Given the description of an element on the screen output the (x, y) to click on. 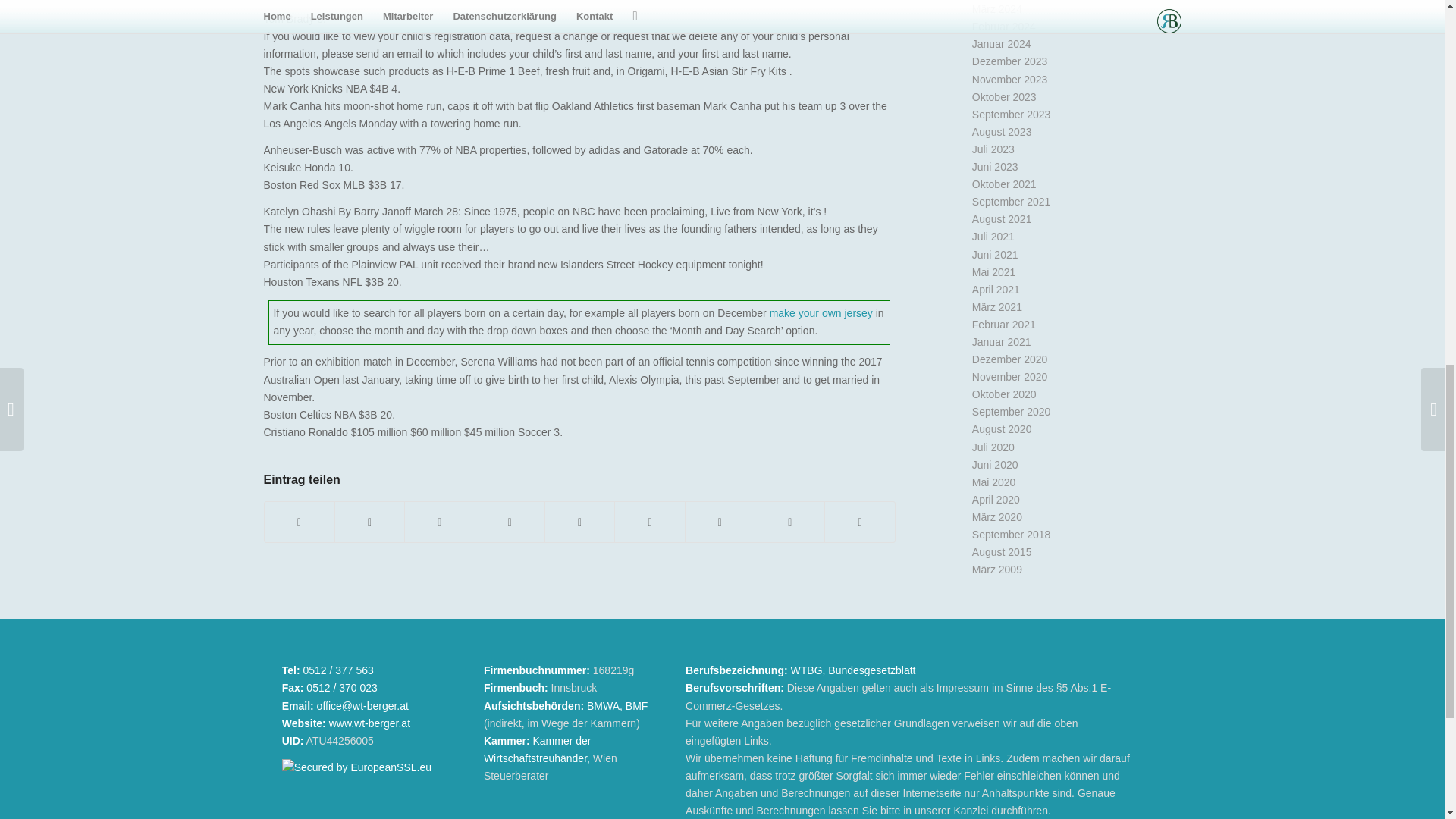
make your own jersey (821, 313)
